Given the description of an element on the screen output the (x, y) to click on. 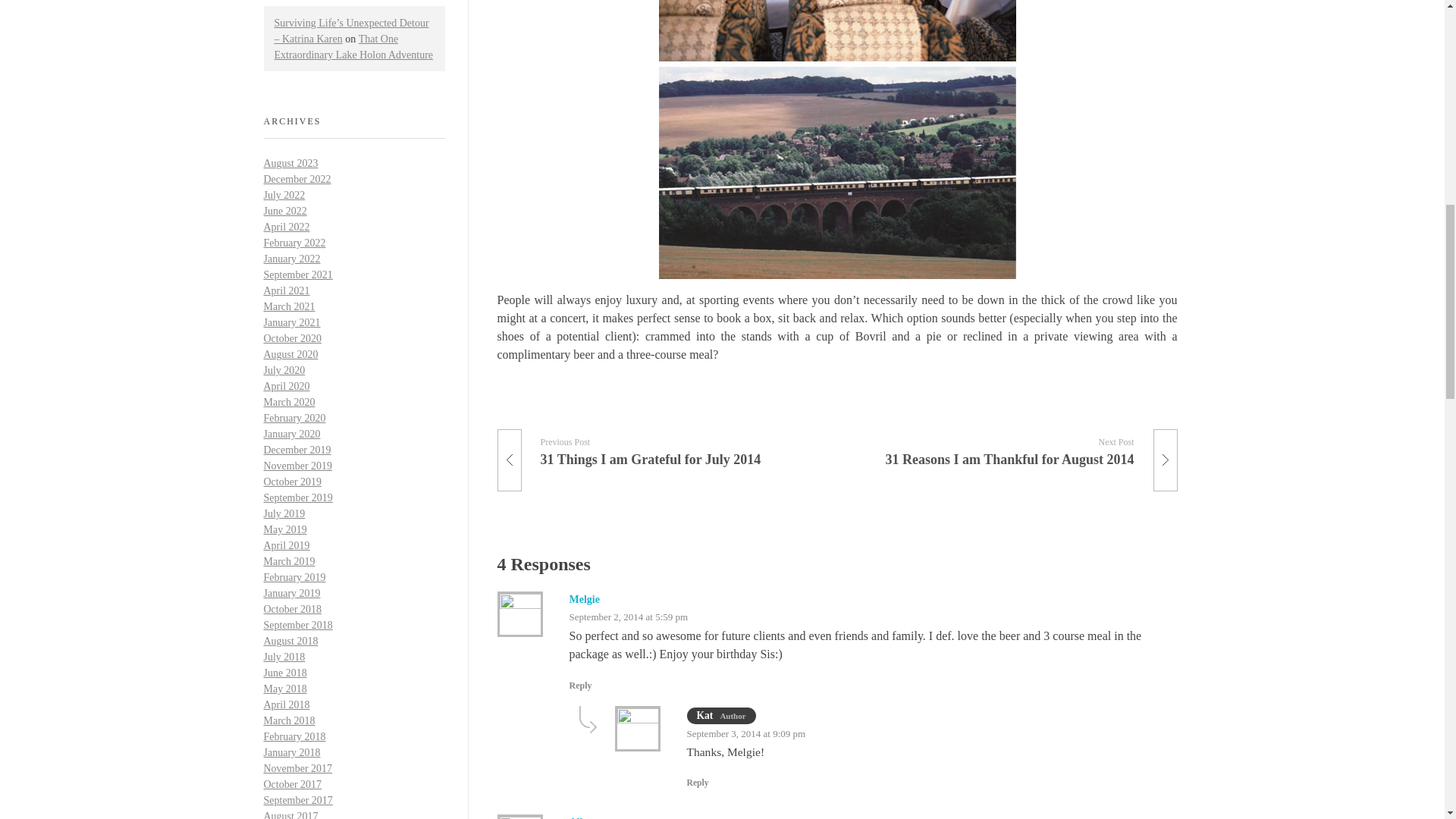
Melgie (1012, 448)
Reply (583, 599)
Allan (698, 782)
Reply (581, 817)
September 2, 2014 at 5:59 pm (580, 685)
September 3, 2014 at 9:09 pm (661, 448)
